Given the description of an element on the screen output the (x, y) to click on. 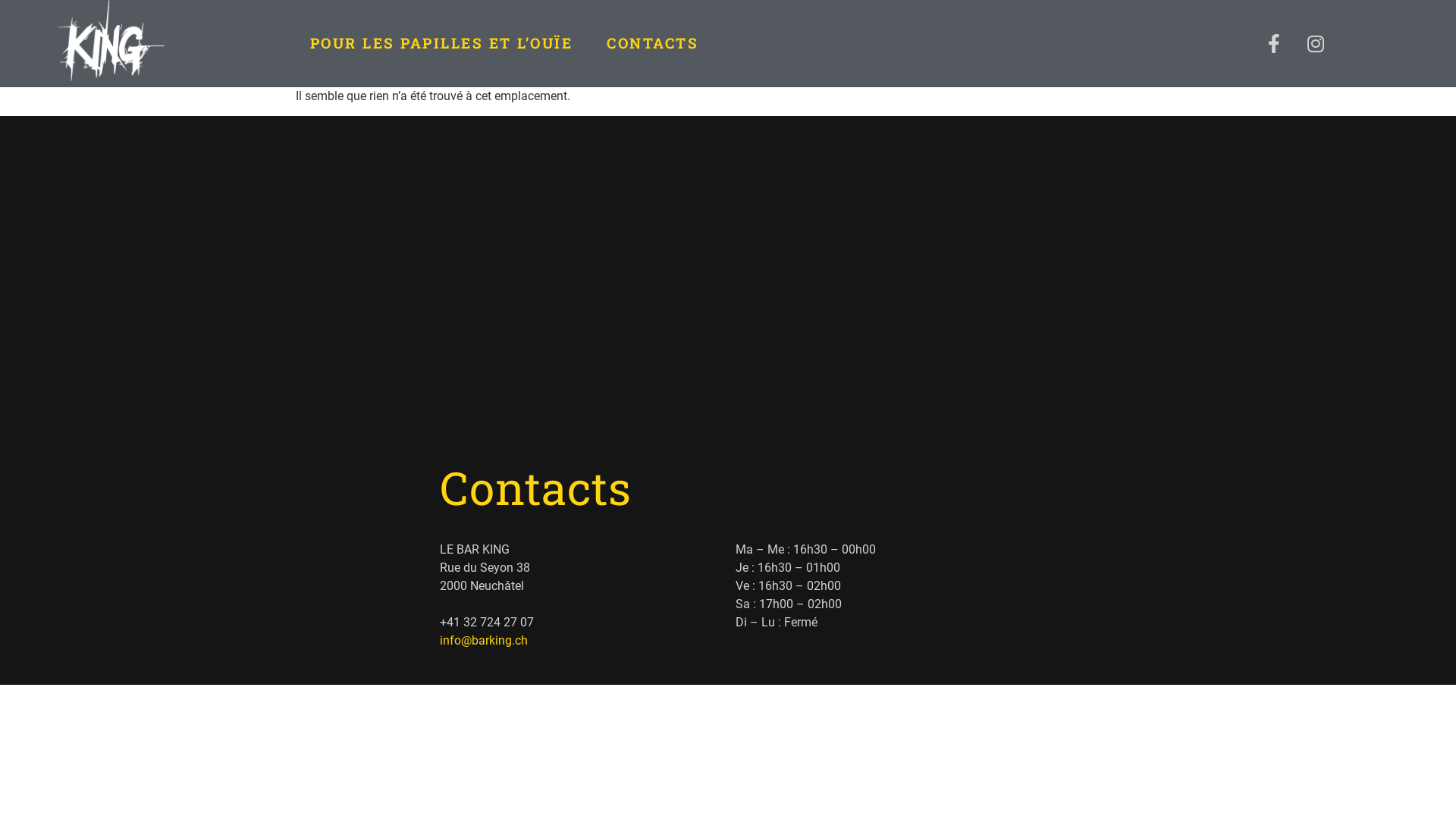
CONTACTS Element type: text (652, 43)
info@barking.ch Element type: text (483, 640)
